Given the description of an element on the screen output the (x, y) to click on. 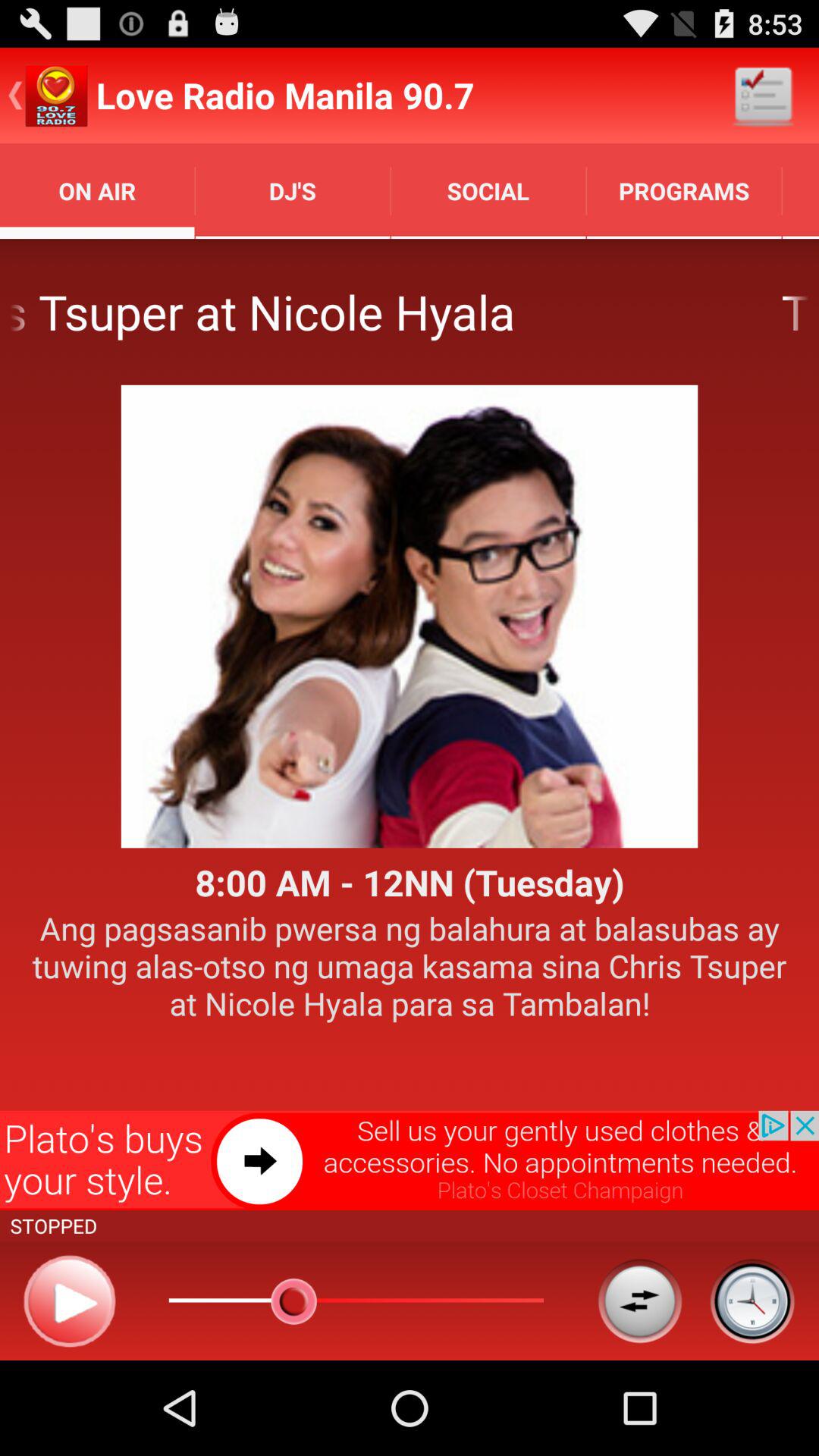
play radio (69, 1300)
